Given the description of an element on the screen output the (x, y) to click on. 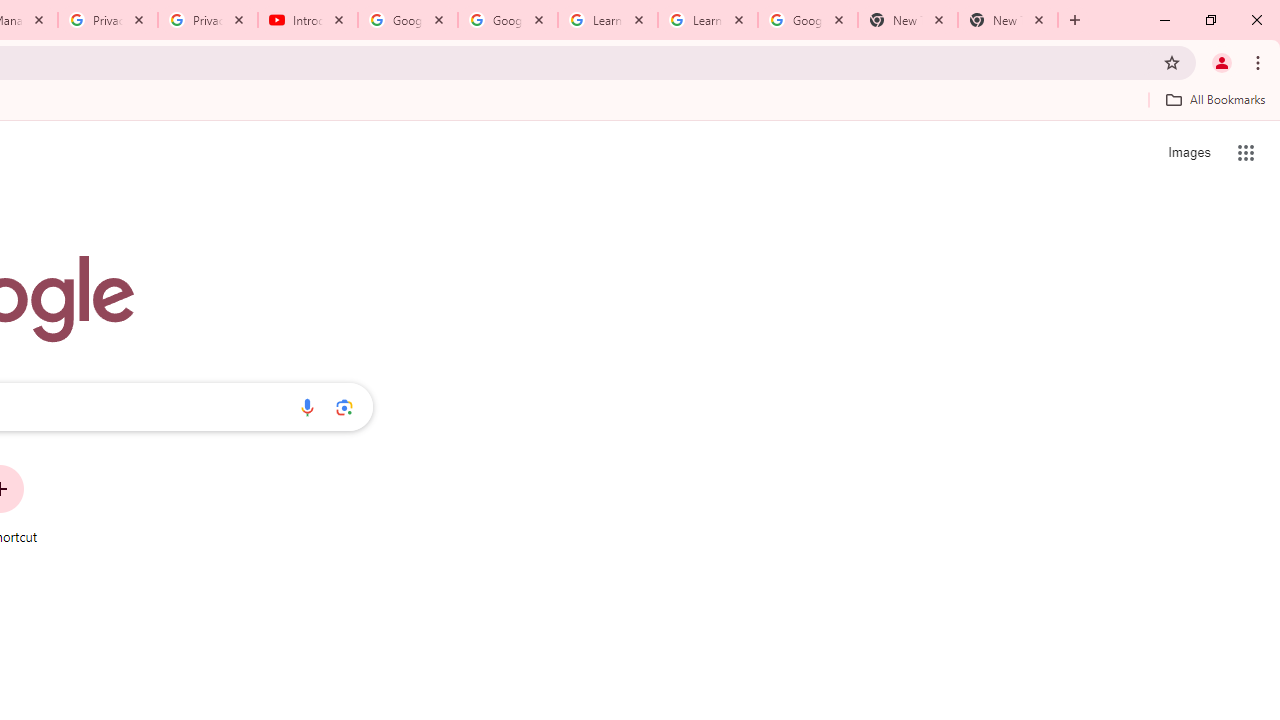
Search for Images  (1188, 152)
Google Account Help (408, 20)
Introduction | Google Privacy Policy - YouTube (308, 20)
Search by image (344, 407)
All Bookmarks (1215, 99)
